Given the description of an element on the screen output the (x, y) to click on. 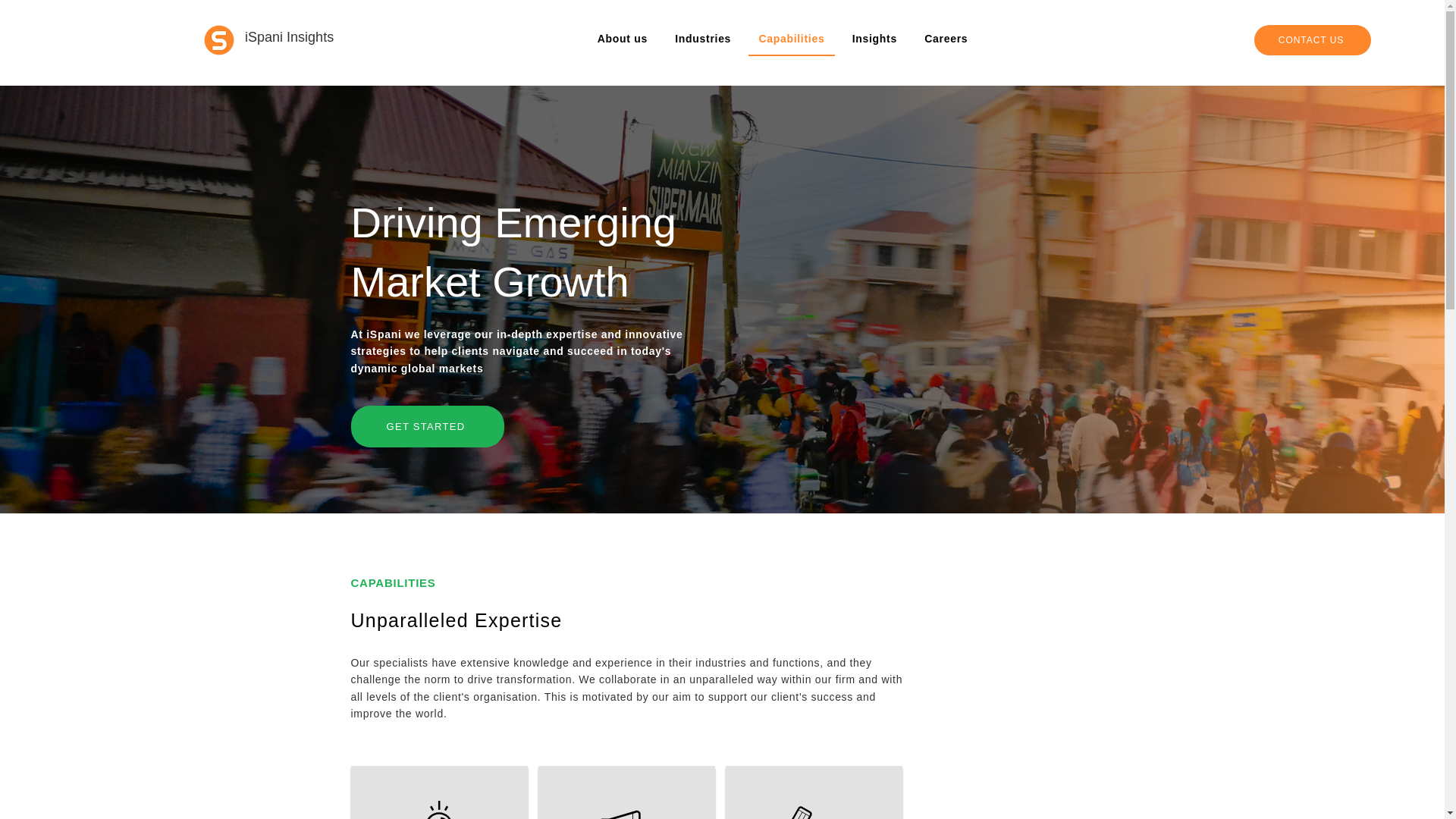
About us (622, 40)
GET STARTED (426, 426)
Capabilities (791, 40)
Industries (703, 40)
Careers (945, 40)
CONTACT US (1312, 40)
Insights (875, 40)
iSpani Insights (288, 37)
